Given the description of an element on the screen output the (x, y) to click on. 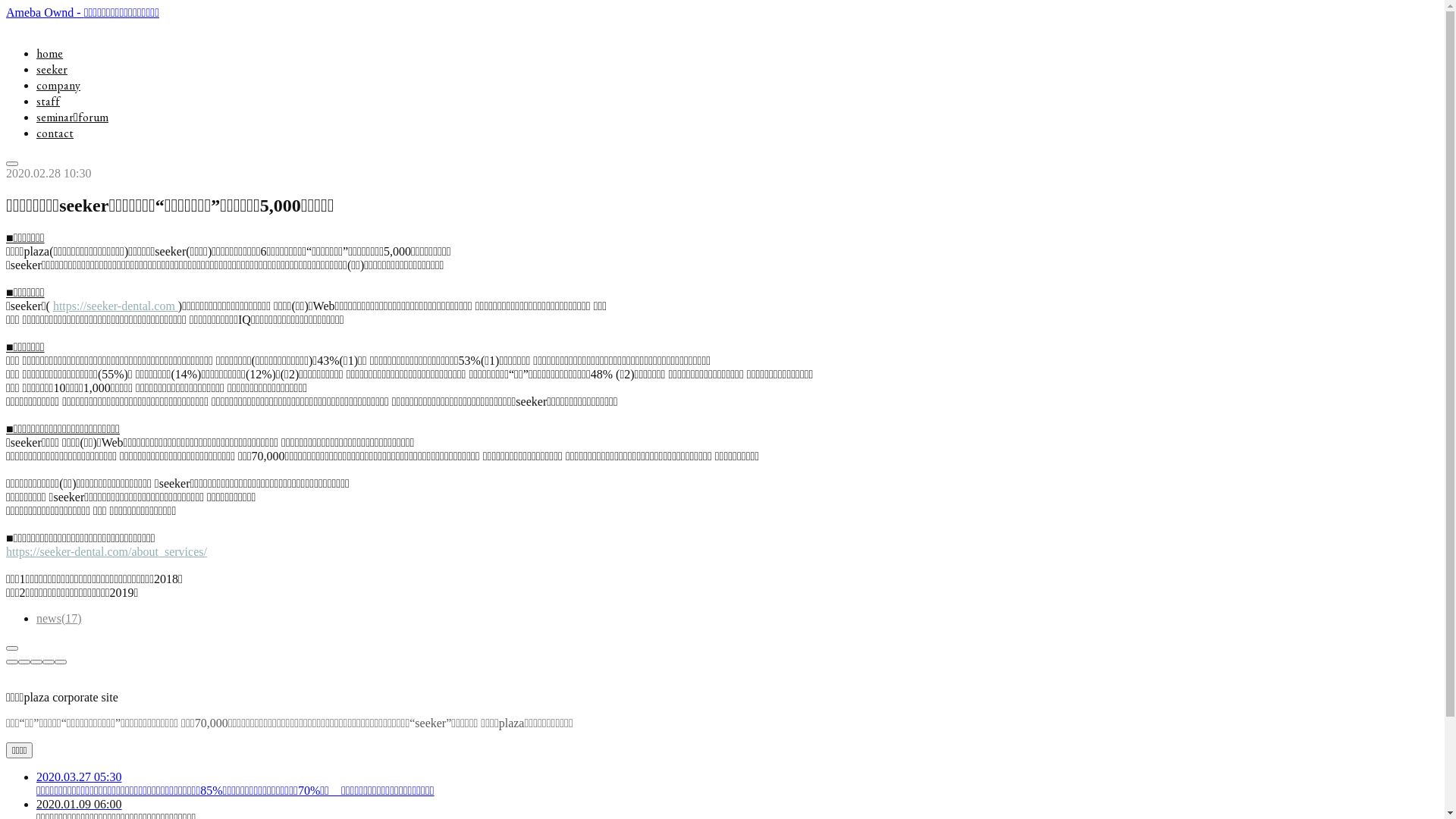
https://seeker-dental.com Element type: text (115, 305)
contact Element type: text (54, 133)
news(17) Element type: text (58, 617)
staff Element type: text (47, 101)
home Element type: text (49, 53)
https://seeker-dental.com/about_services/ Element type: text (106, 551)
company Element type: text (58, 85)
seeker Element type: text (51, 69)
